Given the description of an element on the screen output the (x, y) to click on. 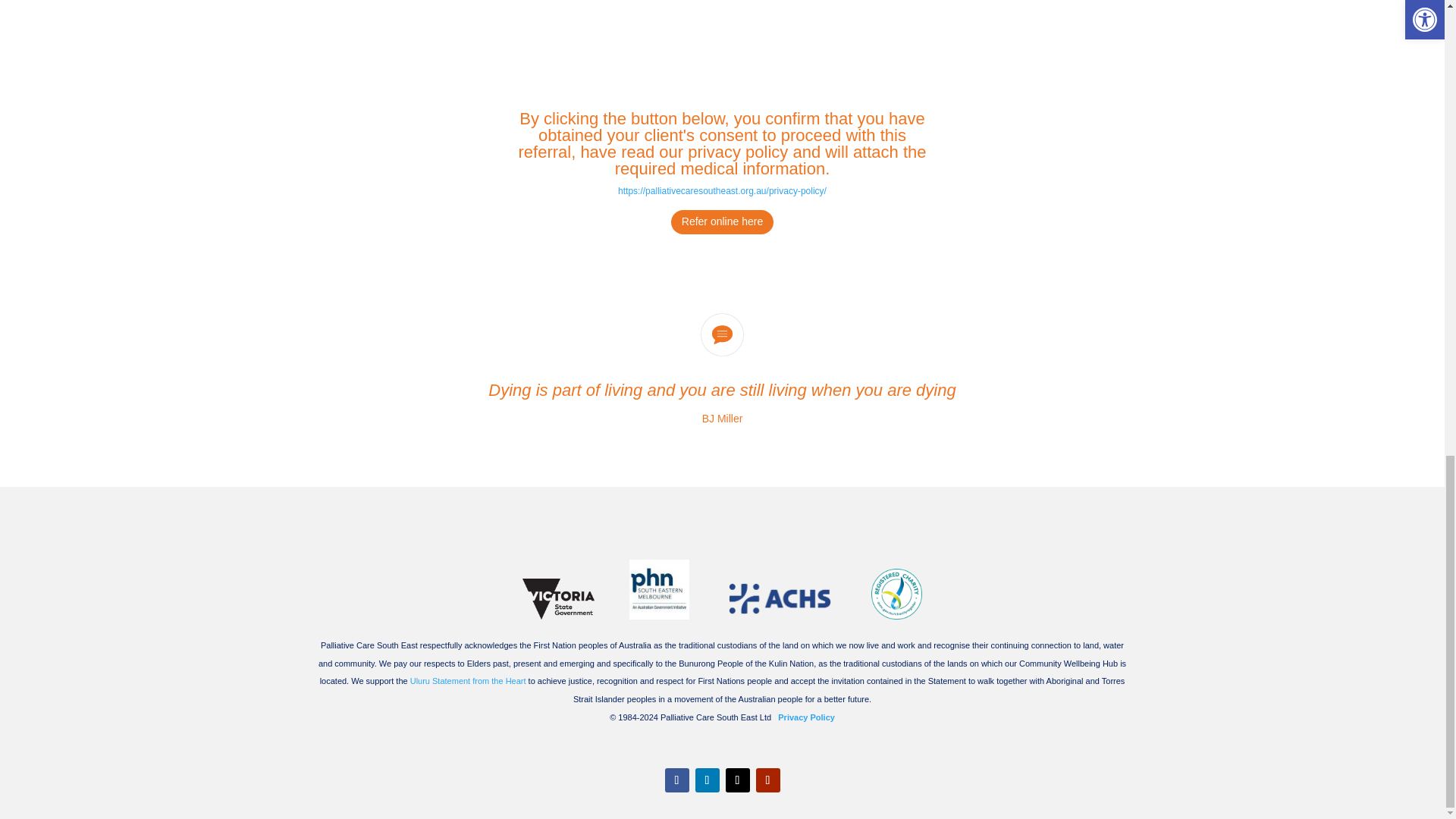
Follow on LinkedIn (706, 780)
Follow on Youtube (766, 780)
Follow on X (737, 780)
Follow on Facebook (675, 780)
